Given the description of an element on the screen output the (x, y) to click on. 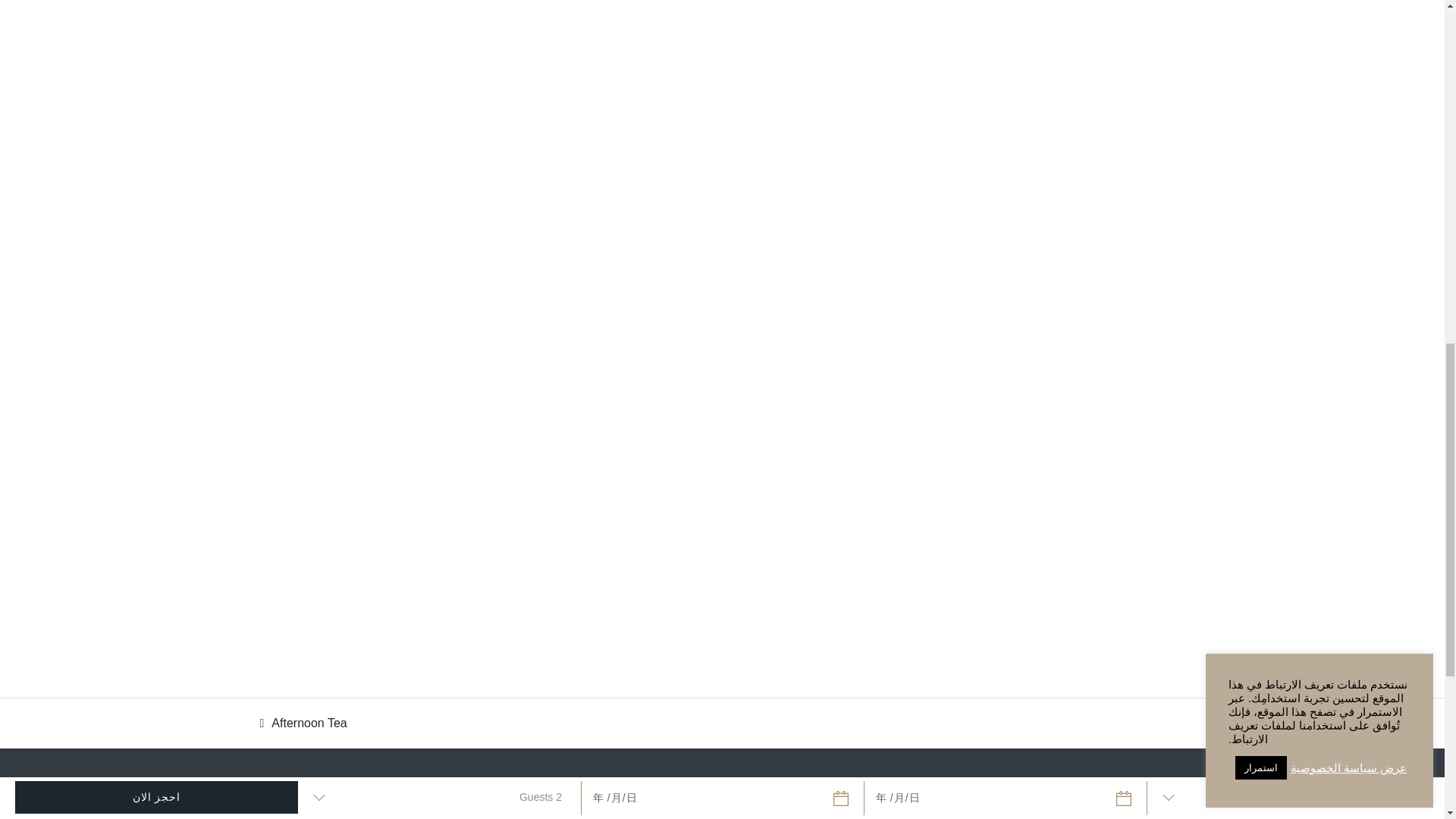
LinkedIn (1098, 796)
Instagram (1178, 796)
Facebook (1137, 796)
X Twitter (1061, 796)
